Given the description of an element on the screen output the (x, y) to click on. 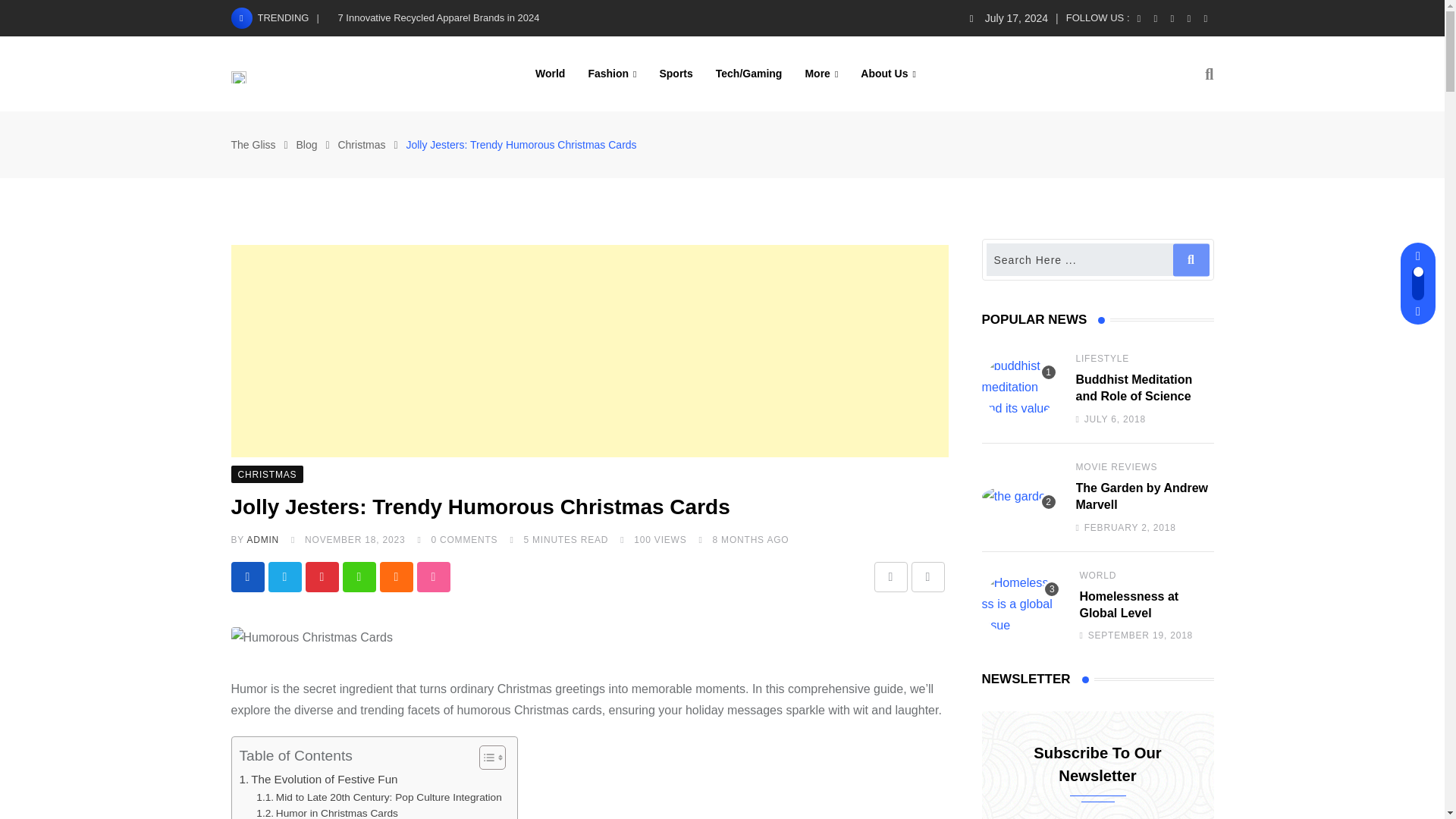
Fashion (611, 73)
Go to The Gliss. (252, 144)
Posts by admin (262, 539)
Go to the Christmas Category archives. (361, 144)
Mid to Late 20th Century: Pop Culture Integration (378, 797)
Humor in Christmas Cards (326, 812)
Go to Blog. (307, 144)
The Evolution of Festive Fun (318, 779)
About Us (887, 73)
7 Innovative Recycled Apparel Brands in 2024 (438, 17)
